Given the description of an element on the screen output the (x, y) to click on. 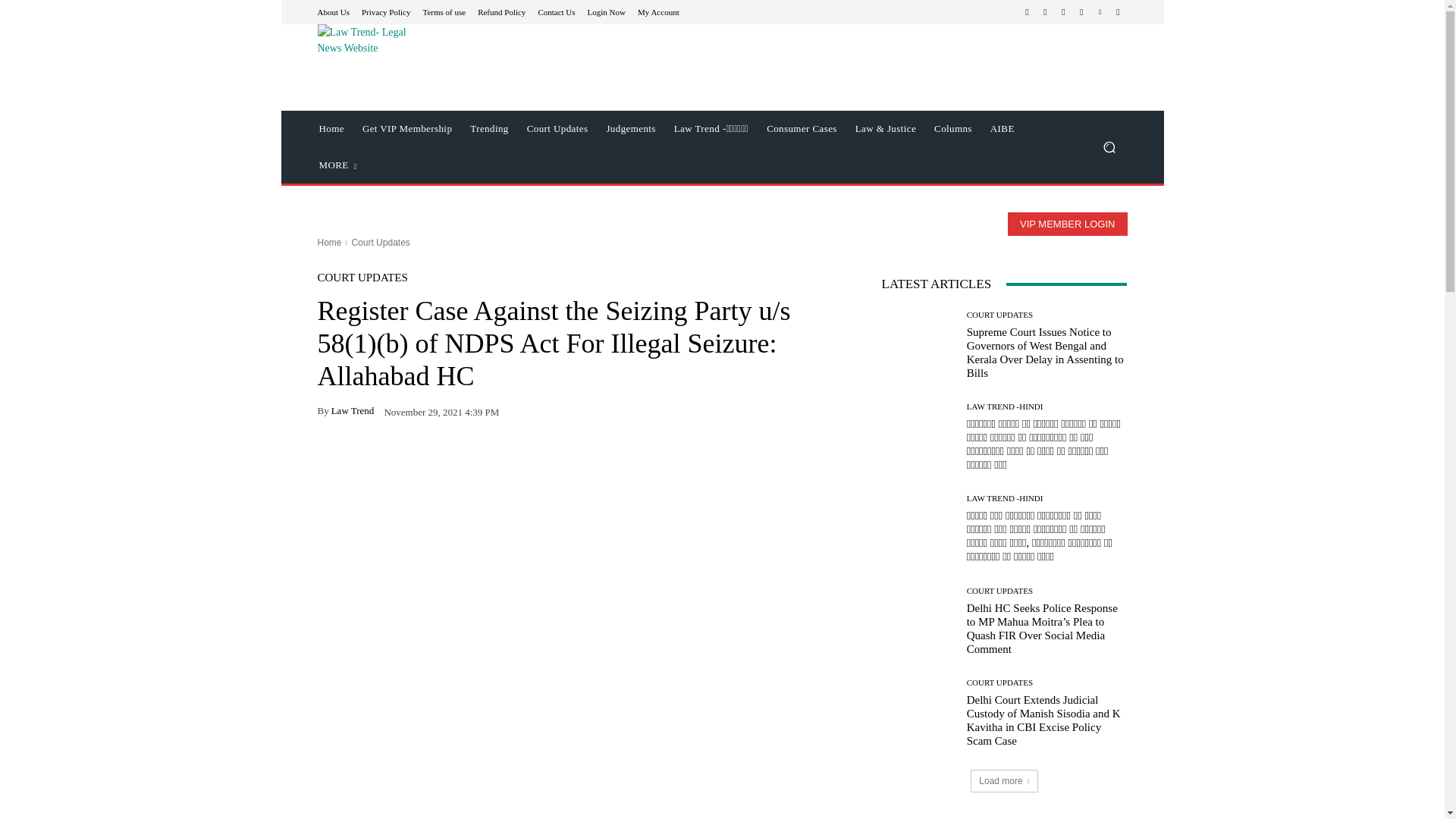
Terms of use (443, 11)
Youtube (1117, 12)
Contact Us (556, 11)
Twitter (1080, 12)
My Account (658, 11)
Vimeo (1099, 12)
VIP MEMBER LOGIN (1066, 223)
Telegram (1062, 12)
Law Trend- Legal News Website (425, 59)
Facebook (1026, 12)
Law Trend- Legal News Website (362, 59)
About Us (333, 11)
Privacy Policy (385, 11)
Refund Policy (501, 11)
Instagram (1044, 12)
